Given the description of an element on the screen output the (x, y) to click on. 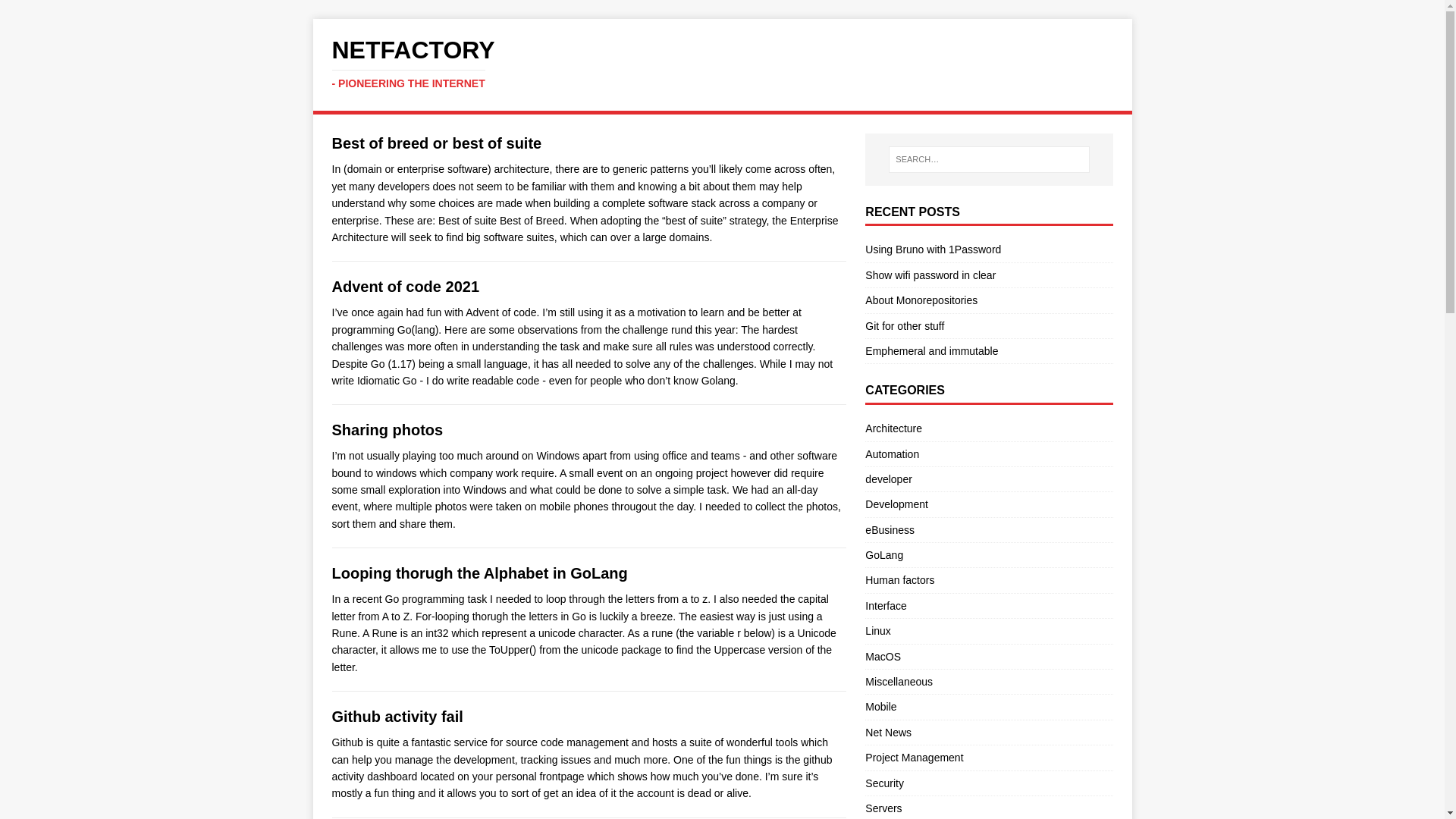
Emphemeral and immutable (930, 350)
MacOS (882, 656)
Security (884, 783)
Looping thorugh the Alphabet in GoLang (479, 573)
Servers (882, 808)
Linux (876, 630)
Development (896, 503)
Git for other stuff (903, 326)
Project Management (913, 757)
developer (888, 479)
Using Bruno with 1Password (932, 249)
Advent of code 2021 (405, 286)
eBusiness (889, 530)
Miscellaneous (898, 681)
Show wifi password in clear (929, 275)
